Given the description of an element on the screen output the (x, y) to click on. 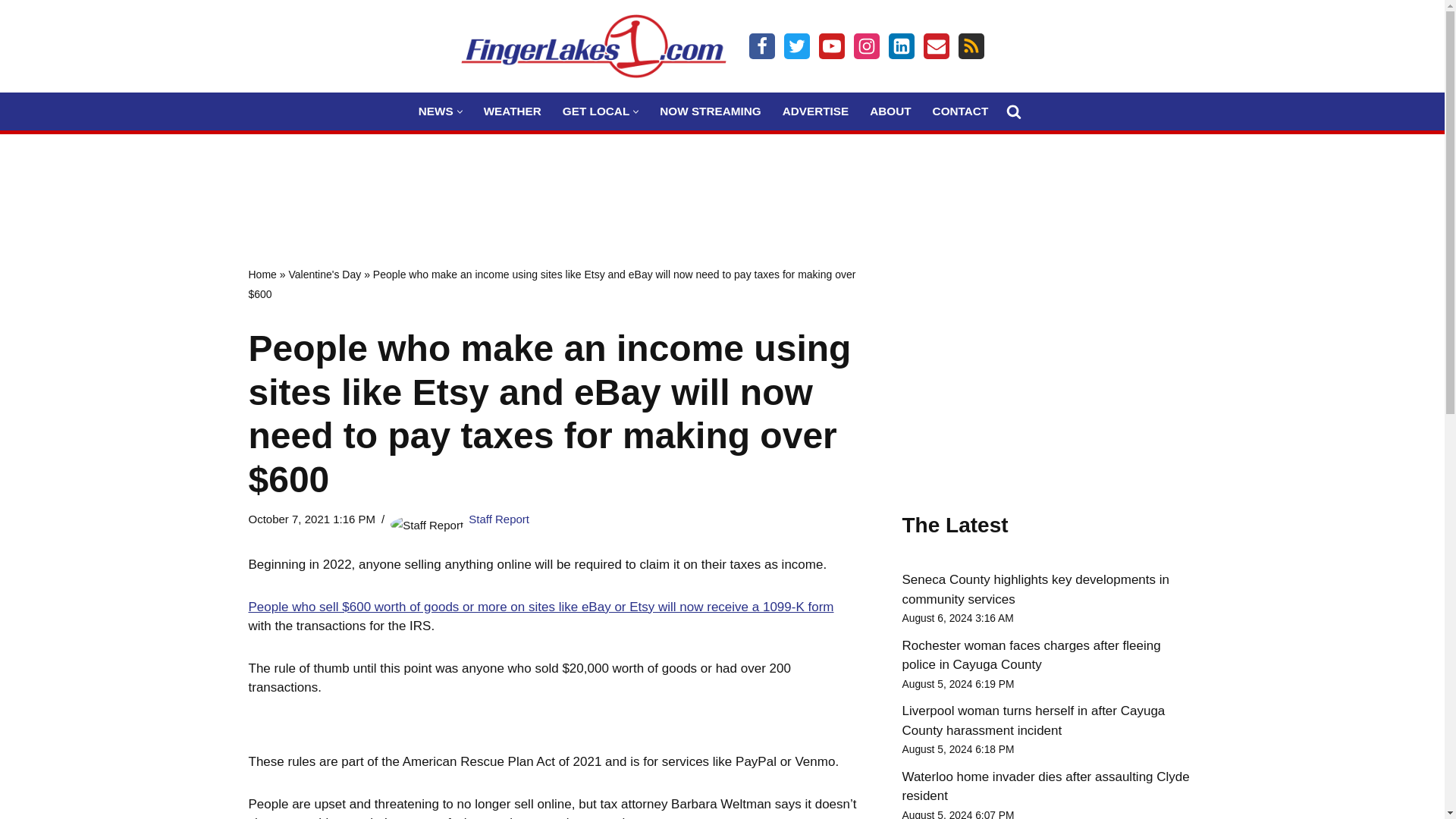
Youtube (831, 45)
NEWS (435, 111)
Feed (971, 45)
Posts by Staff Report (498, 518)
Facebook (761, 45)
GET LOCAL (595, 111)
Instagram (866, 45)
CONTACT (960, 111)
Twitter (796, 45)
ADVERTISE (815, 111)
Skip to content (11, 31)
LinkIn (901, 45)
Email Us (936, 45)
WEATHER (512, 111)
ABOUT (890, 111)
